Given the description of an element on the screen output the (x, y) to click on. 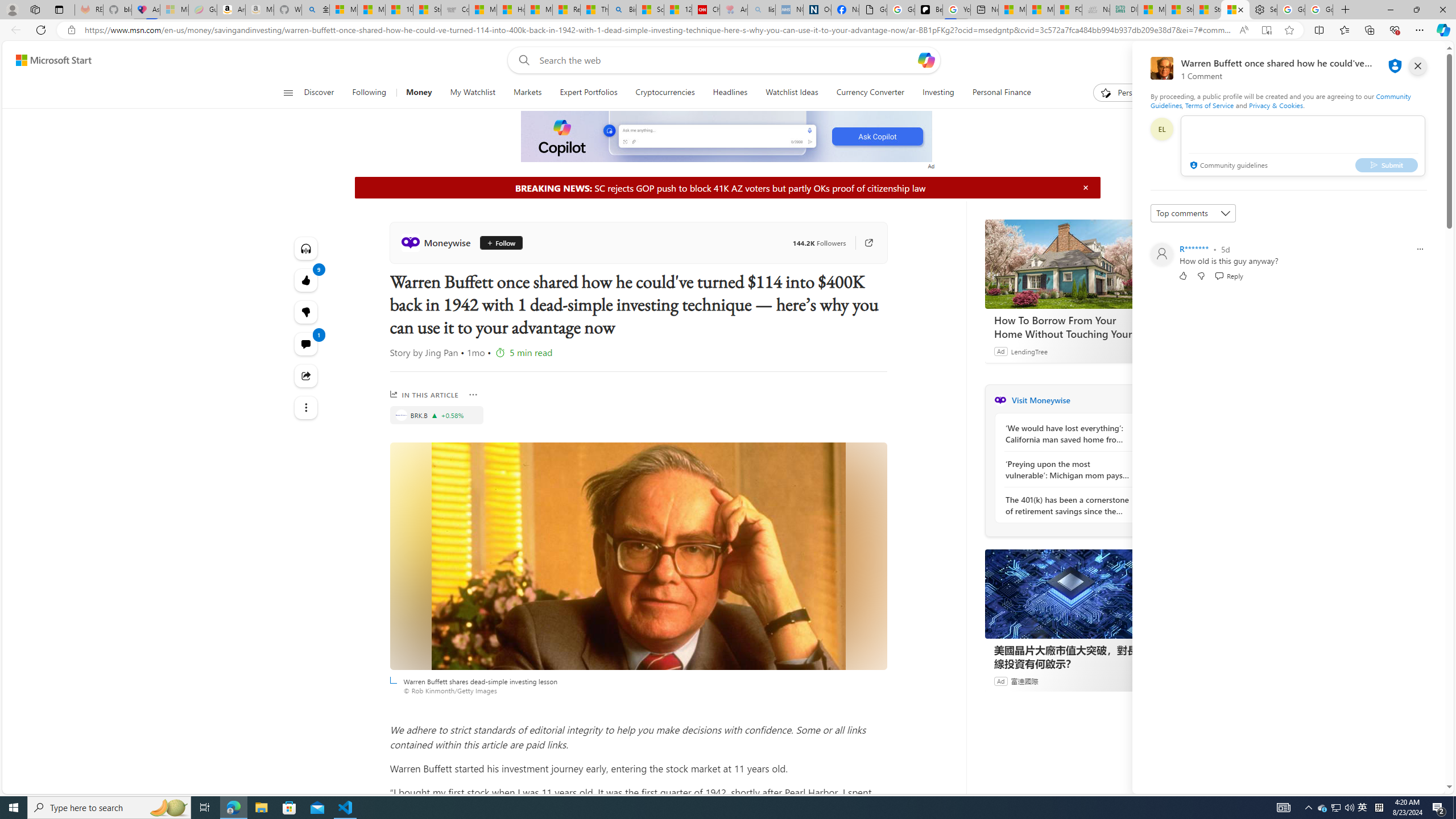
Like (1182, 275)
Profile Picture (1161, 254)
DITOGAMES AG Imprint (1123, 9)
Cryptocurrencies (665, 92)
Science - MSN (649, 9)
Expert Portfolios (588, 92)
Class: button-glyph (287, 92)
Arthritis: Ask Health Professionals - Sleeping (733, 9)
LendingTree (1029, 351)
R******* (1193, 248)
